Given the description of an element on the screen output the (x, y) to click on. 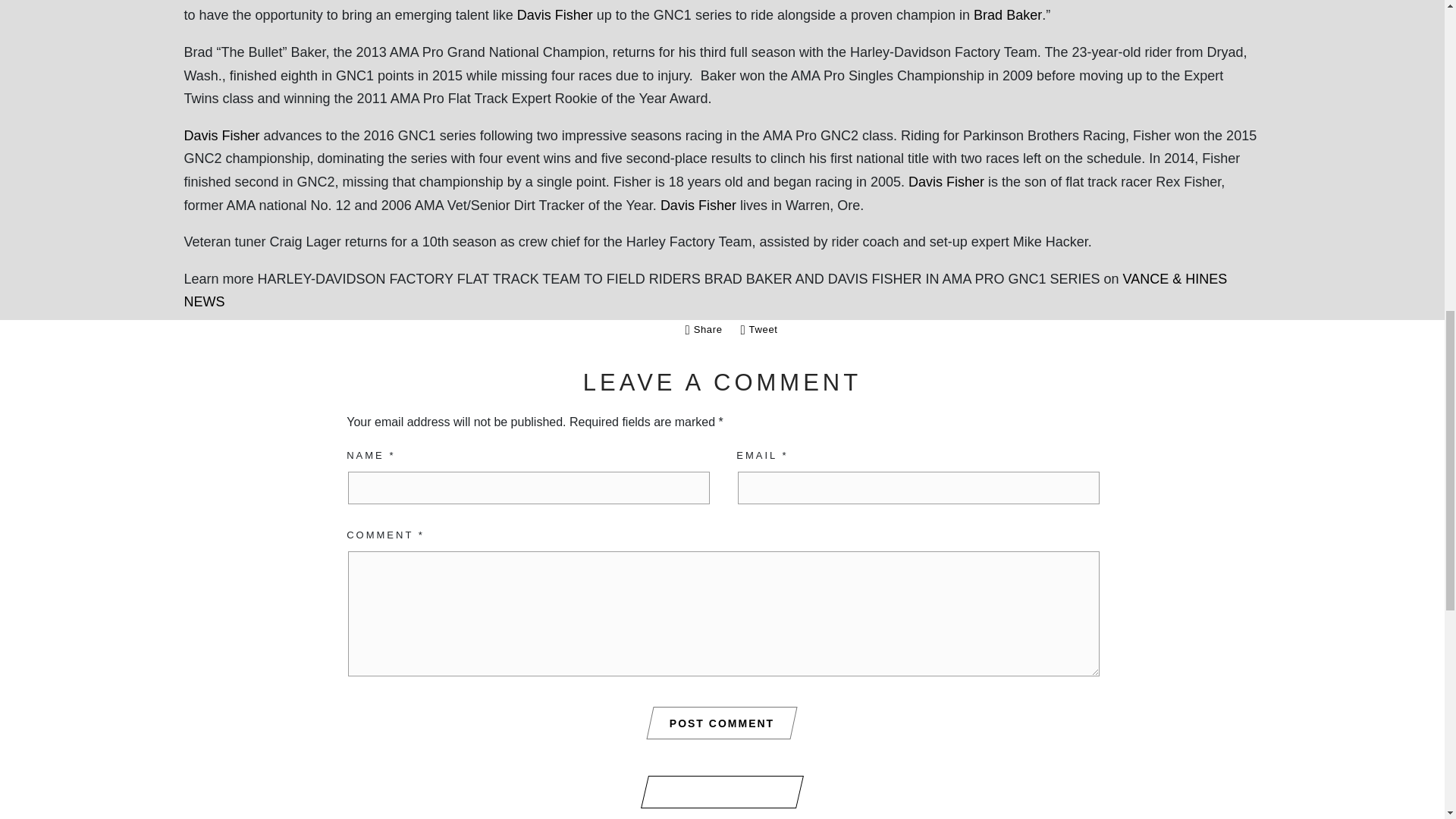
Post Comment (721, 723)
